Given the description of an element on the screen output the (x, y) to click on. 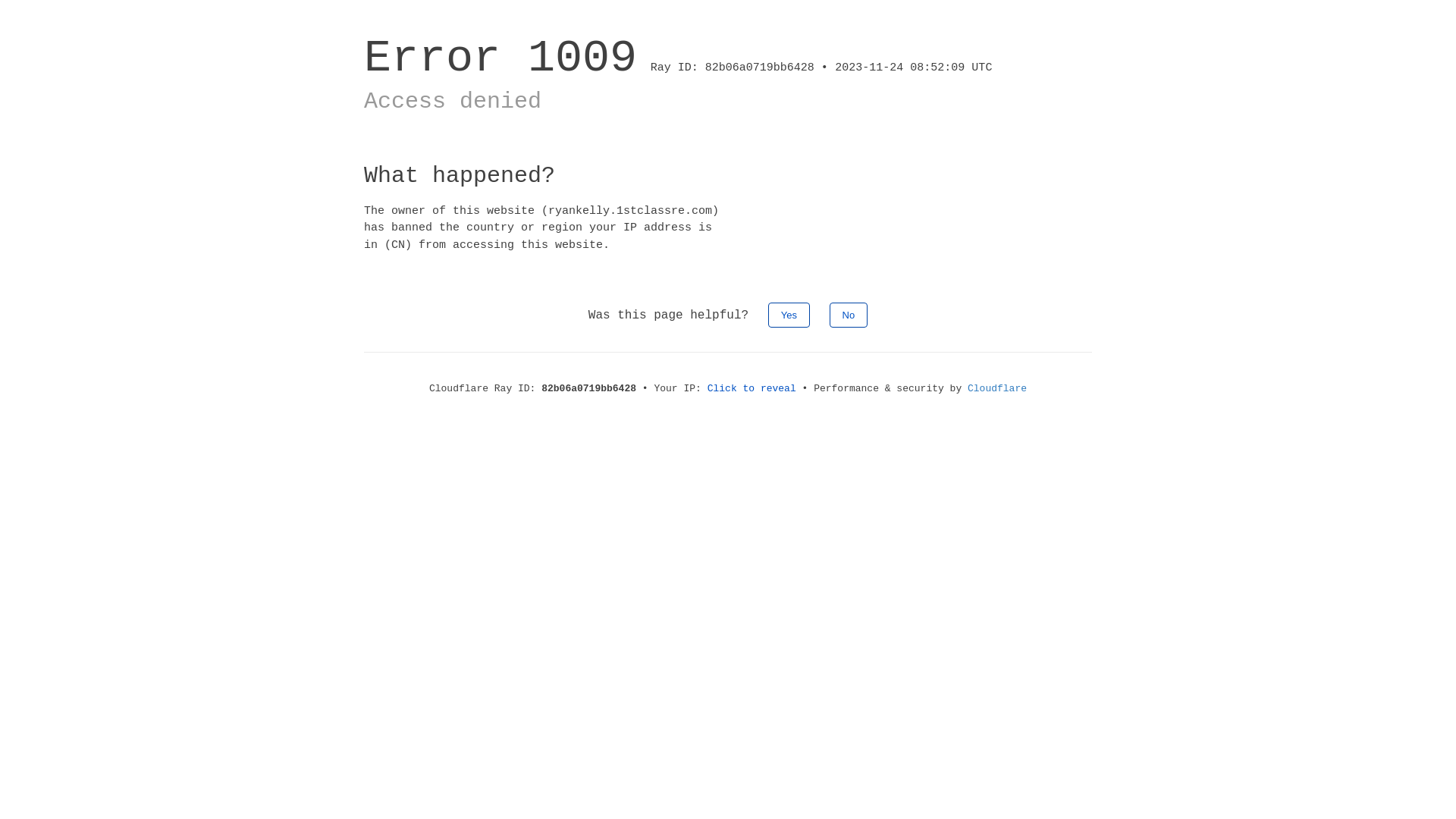
Click to reveal Element type: text (751, 388)
No Element type: text (848, 314)
Cloudflare Element type: text (996, 388)
Yes Element type: text (788, 314)
